Given the description of an element on the screen output the (x, y) to click on. 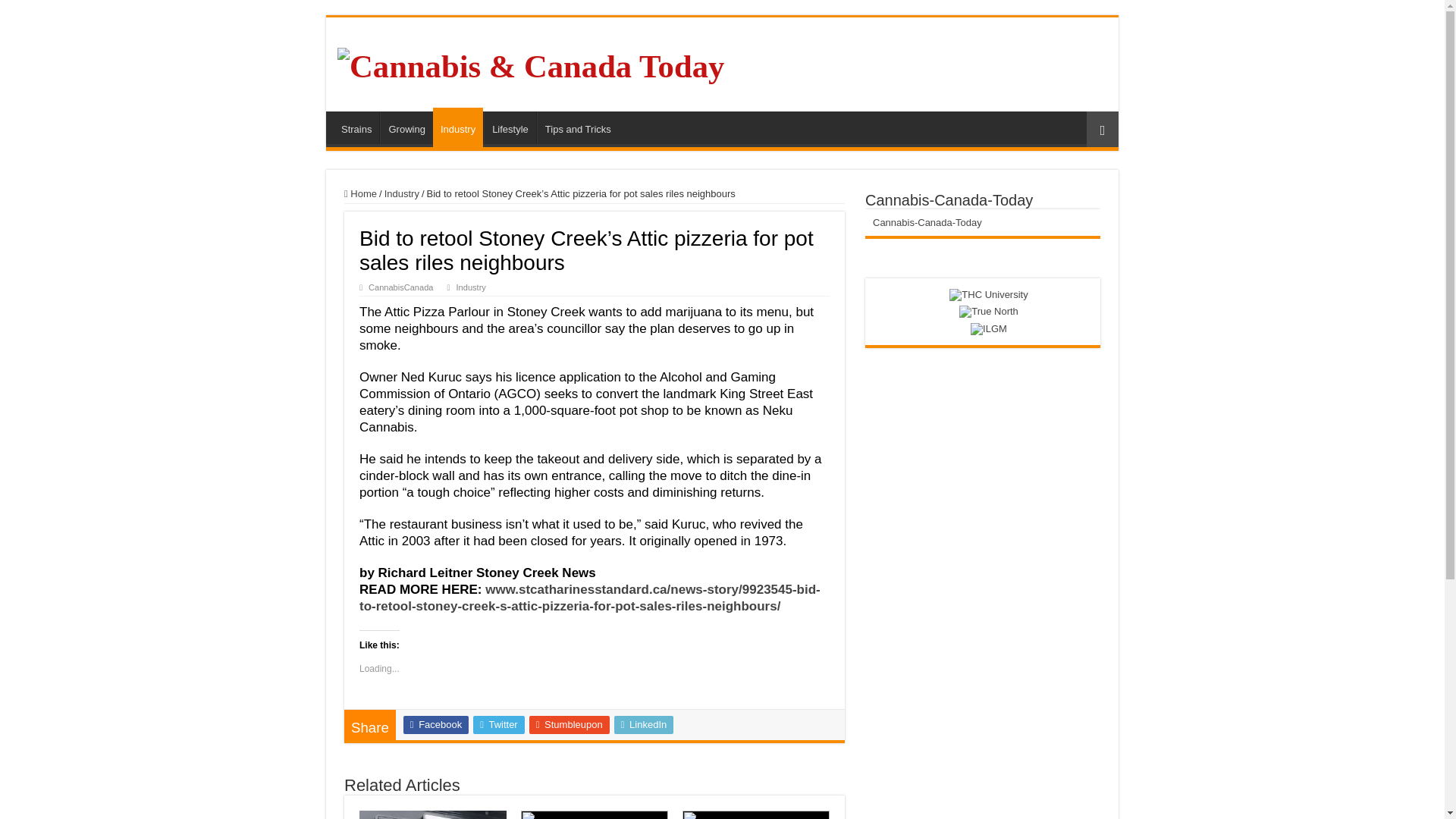
Strains (355, 127)
Industry (457, 127)
Lifestyle (509, 127)
Industry (401, 193)
Industry (471, 286)
Twitter (498, 724)
Cannabis-Canada-Today (948, 199)
Cannabis-Canada-Today (926, 222)
LinkedIn (644, 724)
Home (360, 193)
Tips and Tricks (577, 127)
Random Article (1102, 129)
CannabisCanada (400, 286)
Facebook (435, 724)
